Given the description of an element on the screen output the (x, y) to click on. 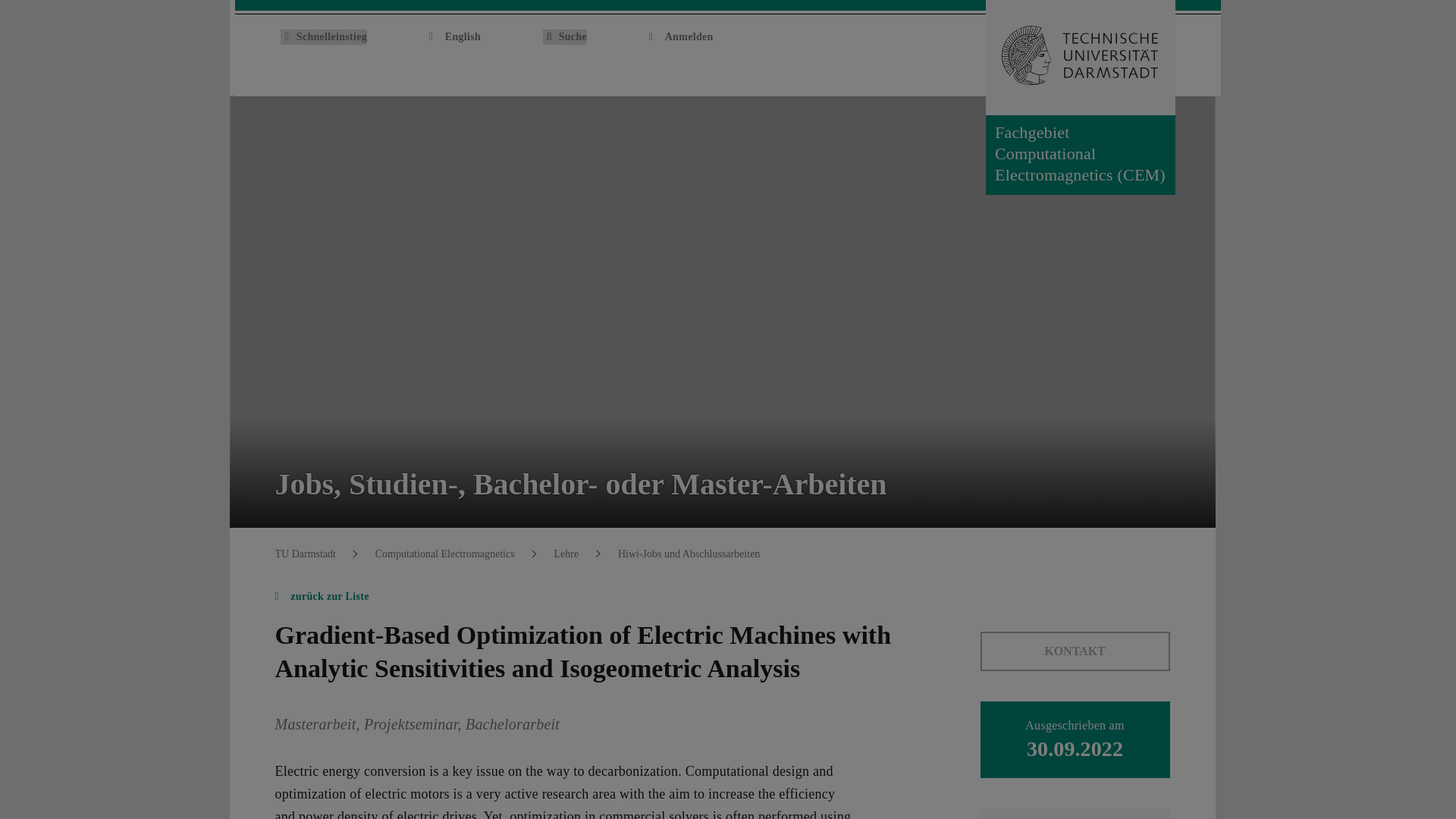
Schnelleinstieg (323, 37)
TU Darmstadt (304, 553)
Zur Startseite der Institution (1165, 49)
Zur Startseite der Institution (1165, 49)
Suche (564, 37)
Hiwi-Jobs und Abschlussarbeiten (688, 553)
Zur Startseite der TU Darmstadt (1079, 57)
KONTAKT (1074, 650)
Anmelden (681, 36)
Computational Electromagnetics (445, 553)
